Given the description of an element on the screen output the (x, y) to click on. 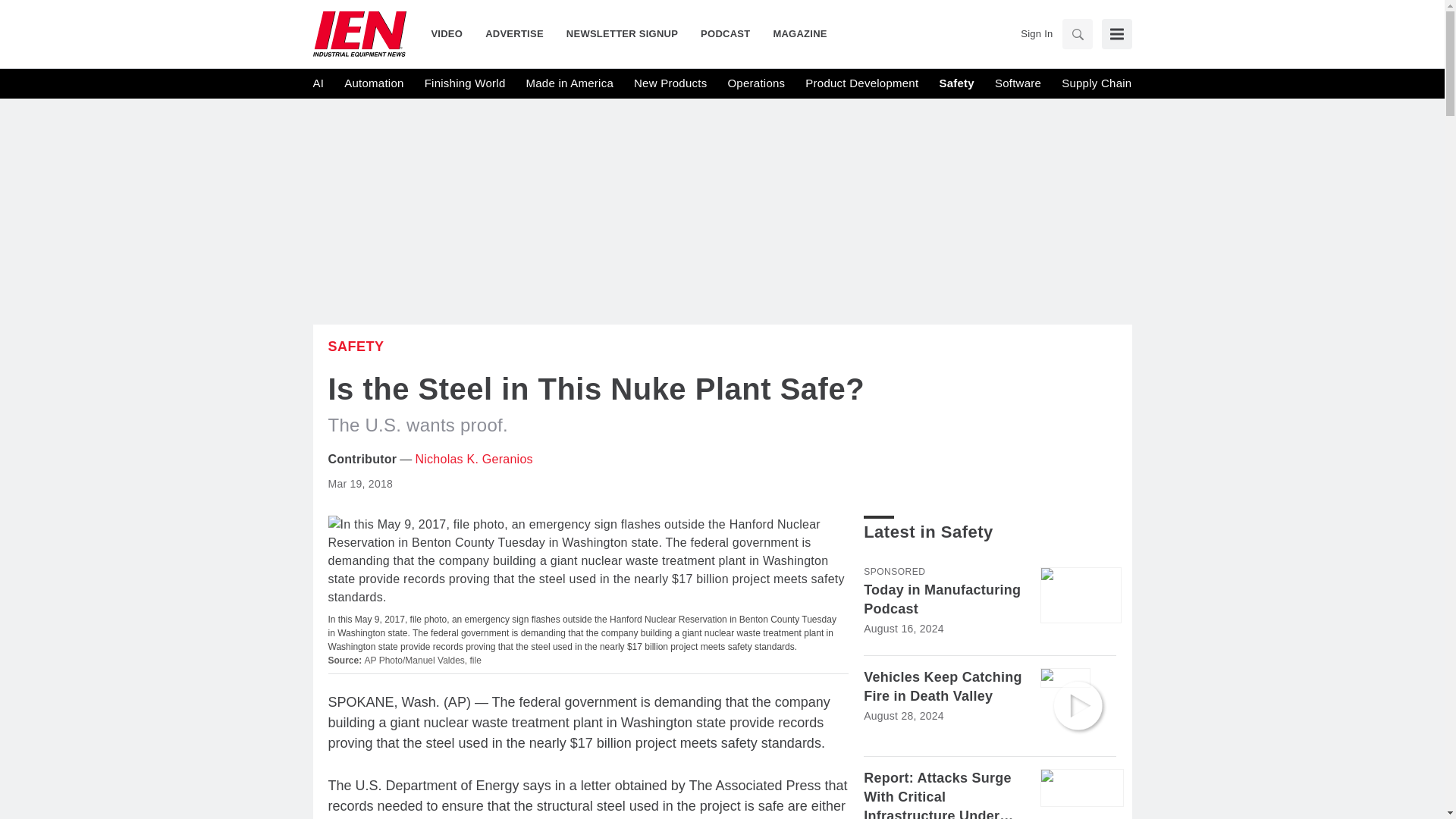
NEWSLETTER SIGNUP (621, 33)
Supply Chain (1096, 83)
New Products (669, 83)
Sponsored (893, 571)
VIDEO (452, 33)
Made in America (568, 83)
Sign In (1036, 33)
Automation (373, 83)
Product Development (861, 83)
Safety (355, 346)
